Given the description of an element on the screen output the (x, y) to click on. 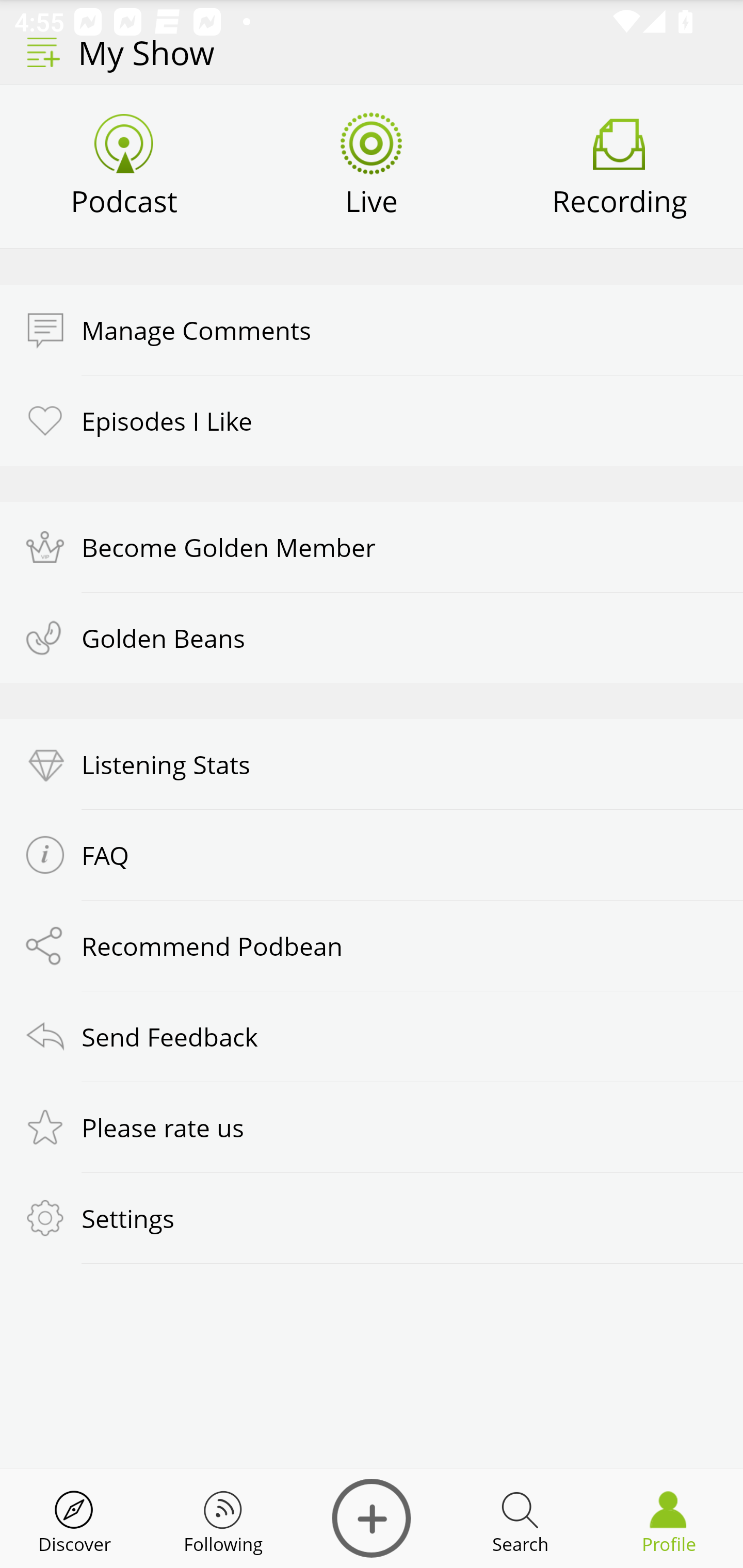
Manage Comments (371, 329)
Episodes I Like (371, 419)
Become Golden Member (371, 546)
Golden Beans (371, 637)
Listening Stats (371, 764)
FAQ (371, 854)
Recommend Podbean (371, 945)
Send Feedback (371, 1035)
Please rate us (371, 1126)
Settings (371, 1217)
Discover (74, 1518)
Discover Following (222, 1518)
Discover (371, 1518)
Discover Search (519, 1518)
